Given the description of an element on the screen output the (x, y) to click on. 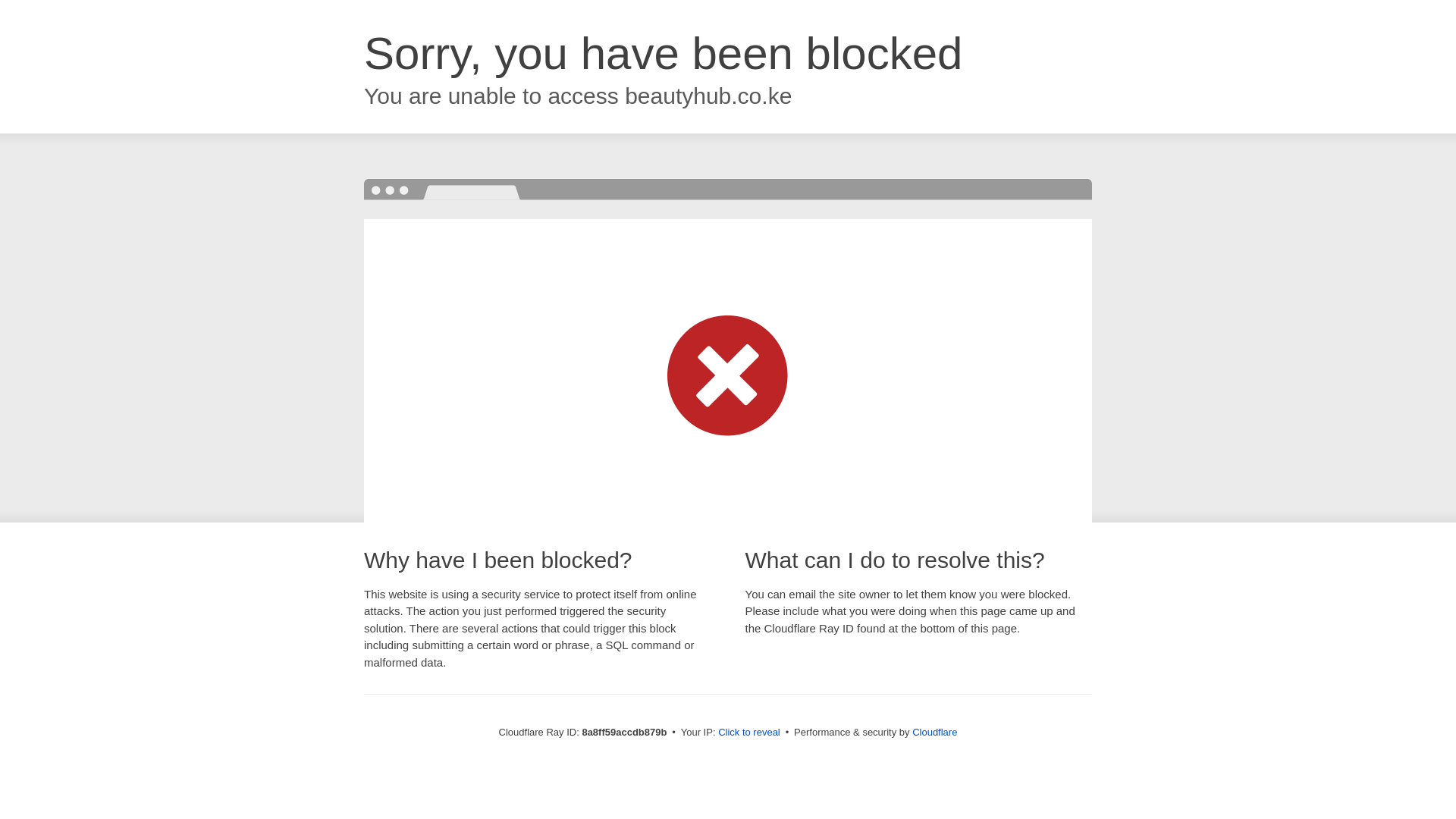
Cloudflare (934, 731)
Click to reveal (748, 732)
